Given the description of an element on the screen output the (x, y) to click on. 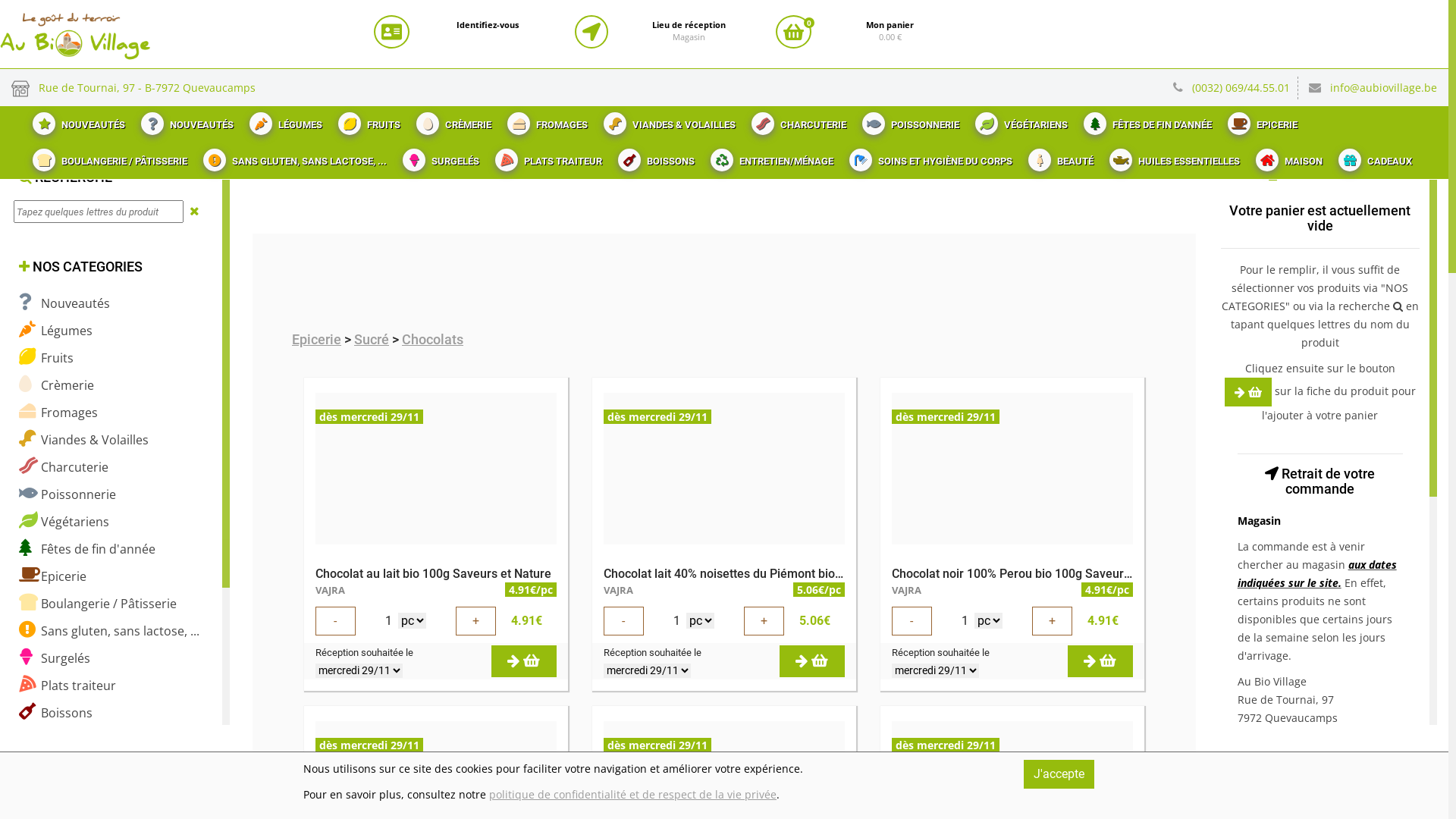
FROMAGES Element type: text (545, 120)
CADEAUX Element type: text (1373, 156)
HUILES ESSENTIELLES Element type: text (1172, 156)
info@aubiovillage.be Element type: text (1383, 87)
POISSONNERIE Element type: text (908, 120)
0 Element type: text (793, 31)
Fromages Element type: text (57, 411)
- Element type: text (911, 620)
- Element type: text (623, 620)
Viandes & Volailles Element type: text (83, 438)
- Element type: text (335, 620)
Chocolats Element type: text (432, 339)
Sans gluten, sans lactose, ... Element type: text (108, 630)
FRUITS Element type: text (367, 120)
SANS GLUTEN, SANS LACTOSE, ... Element type: text (292, 156)
VIANDES & VOLAILLES Element type: text (667, 120)
Charcuterie Element type: text (63, 466)
Boissons Element type: text (55, 711)
BOISSONS Element type: text (654, 156)
Identifiez-vous Element type: text (487, 24)
+ Element type: text (475, 620)
+ Element type: text (1052, 620)
(0032) 069/44.55.01 Element type: text (1245, 87)
Plats traiteur Element type: text (67, 684)
+ Element type: text (763, 620)
MAISON Element type: text (1286, 156)
PLATS TRAITEUR Element type: text (546, 156)
Fruits Element type: text (45, 357)
Epicerie Element type: text (316, 339)
Epicerie Element type: text (52, 575)
EPICERIE Element type: text (1260, 120)
J'accepte Element type: text (1058, 773)
Poissonnerie Element type: text (67, 493)
CHARCUTERIE Element type: text (796, 120)
